Given the description of an element on the screen output the (x, y) to click on. 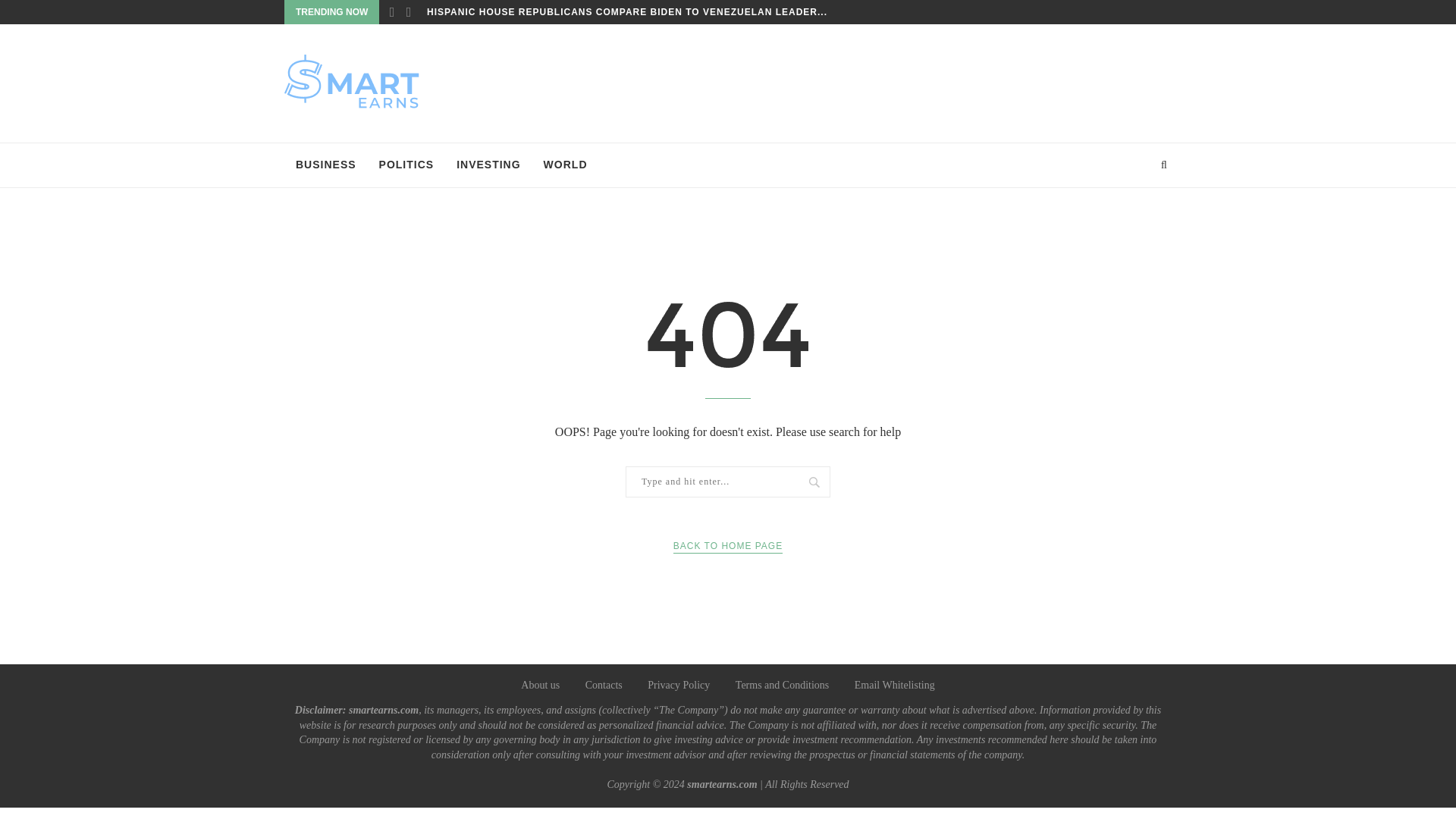
WORLD (565, 165)
Contacts (604, 685)
INVESTING (488, 165)
BACK TO HOME PAGE (727, 545)
Privacy Policy (678, 685)
POLITICS (406, 165)
BUSINESS (325, 165)
Terms and Conditions (781, 685)
Email Whitelisting (894, 685)
About us (540, 685)
